Given the description of an element on the screen output the (x, y) to click on. 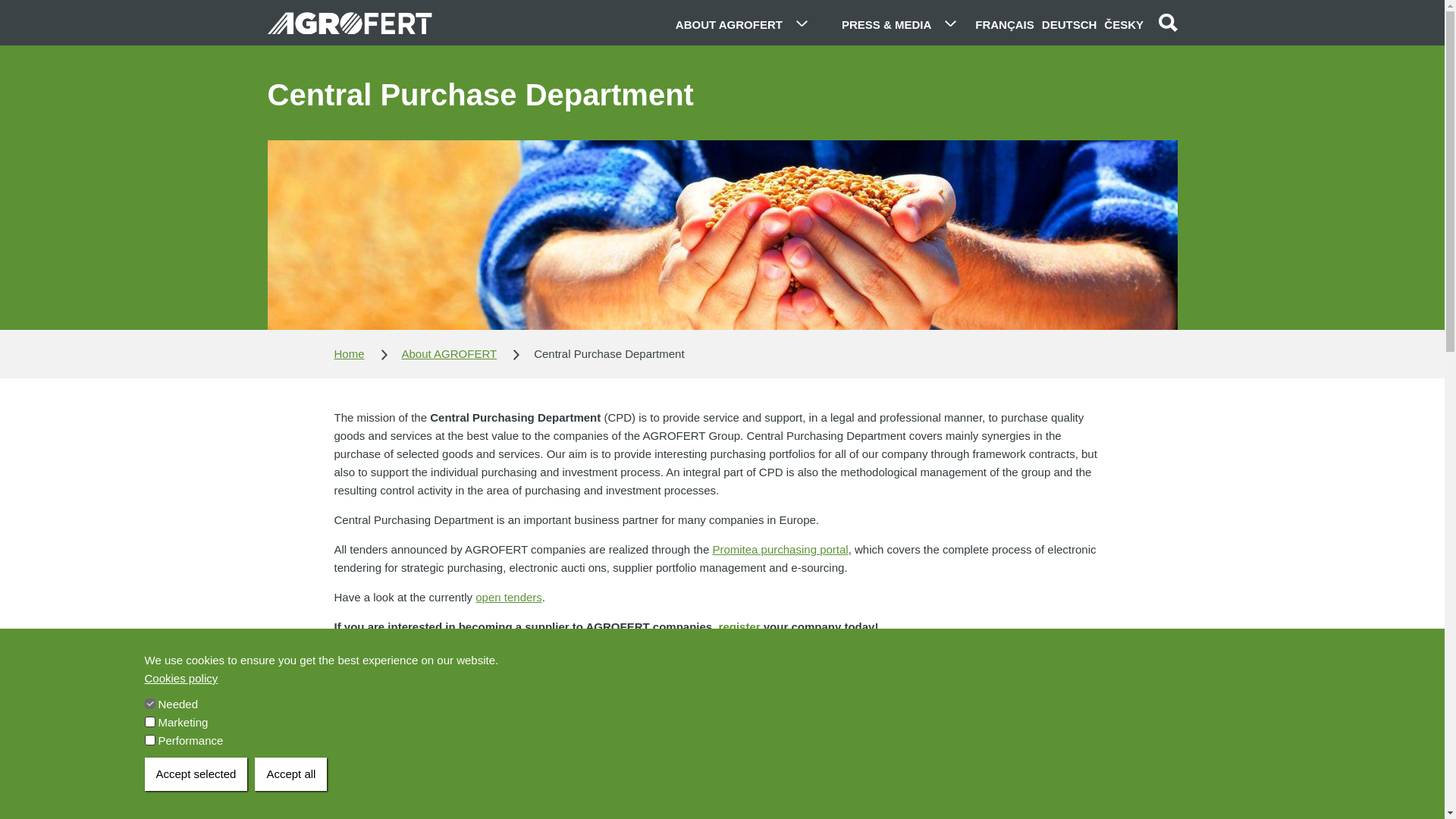
About AGROFERT (449, 353)
Home (348, 353)
DEUTSCH (1068, 22)
open tenders (508, 596)
register (739, 626)
Accept selected (195, 774)
Promitea purchasing portal (779, 549)
Accept all (290, 774)
Cookies policy (180, 678)
